Given the description of an element on the screen output the (x, y) to click on. 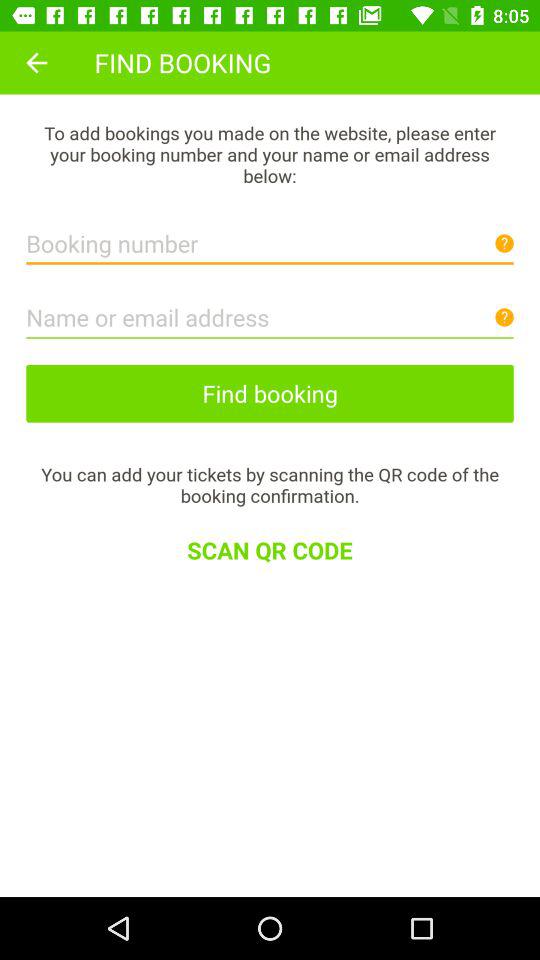
turn off icon at the top left corner (36, 62)
